Given the description of an element on the screen output the (x, y) to click on. 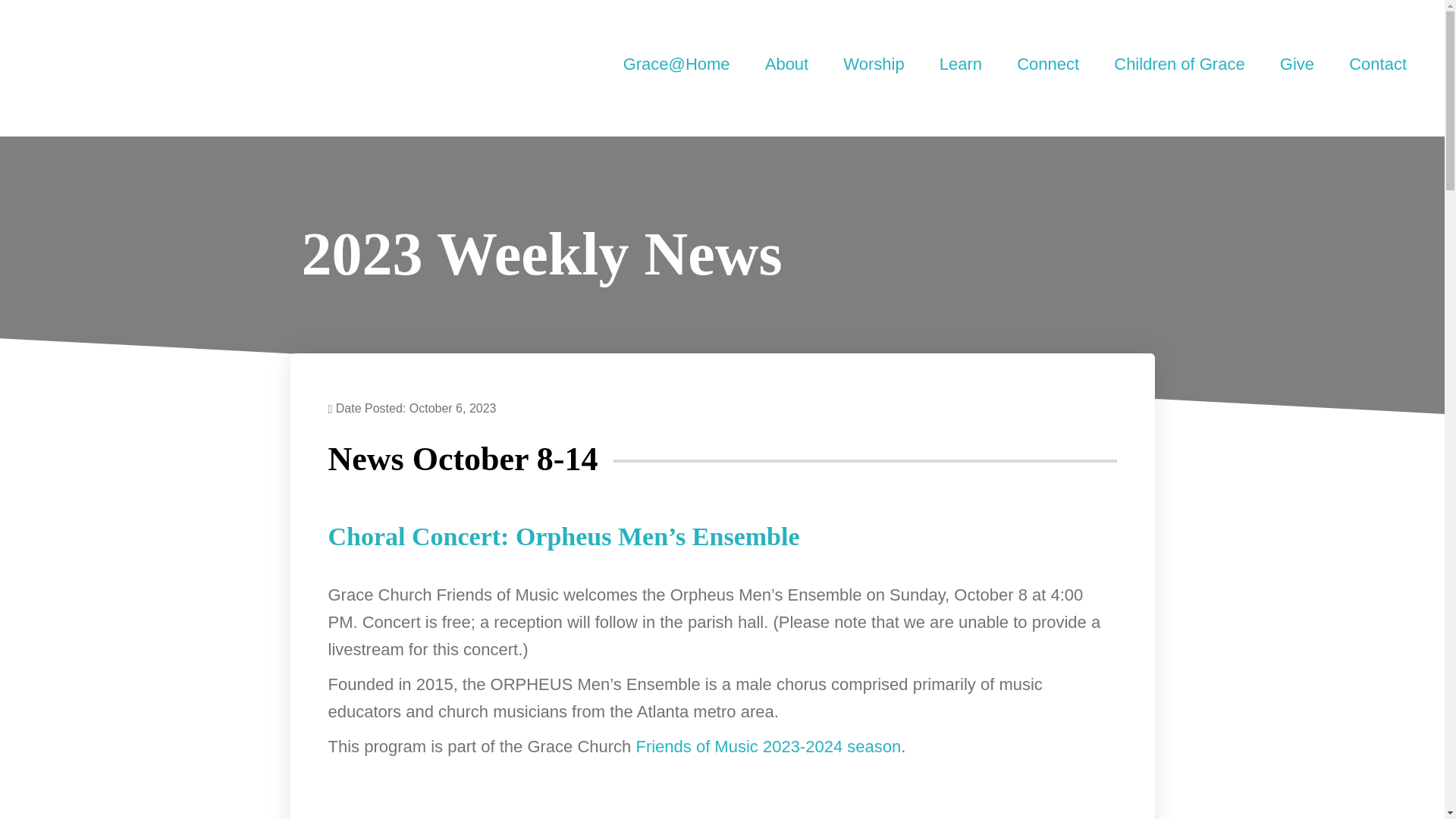
About (787, 63)
Children of Grace (1178, 63)
Grace Church (183, 67)
Connect (1047, 63)
Worship (873, 63)
Give (1296, 63)
Visit (546, 64)
Learn (960, 63)
